Given the description of an element on the screen output the (x, y) to click on. 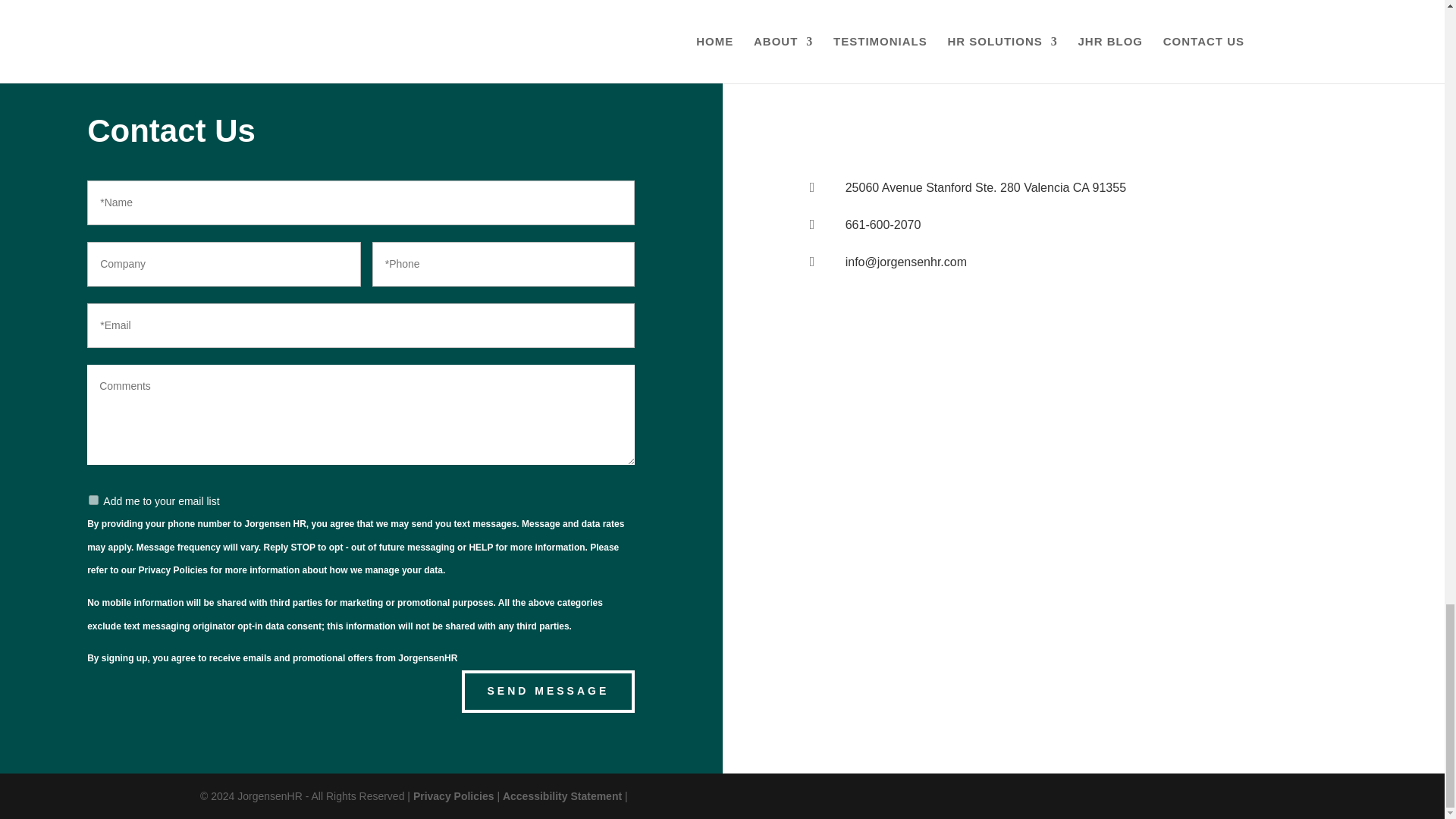
Add me to your email list (93, 500)
SEND MESSAGE (547, 691)
